Given the description of an element on the screen output the (x, y) to click on. 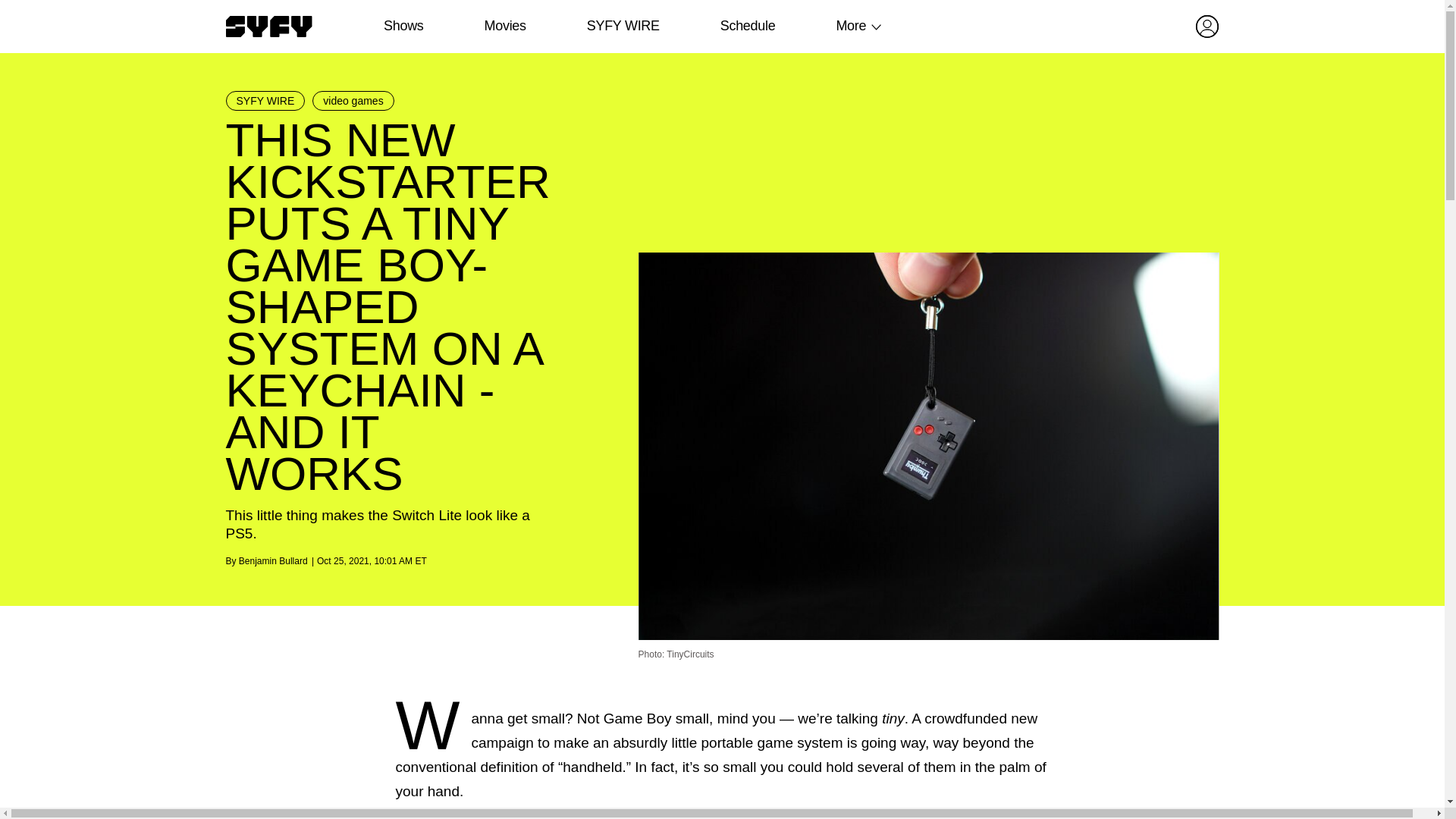
Shows (403, 26)
video games (353, 100)
SYFY WIRE (622, 26)
More (850, 26)
Schedule (746, 26)
Benjamin Bullard (272, 561)
SYFY WIRE (265, 100)
Movies (504, 26)
